Given the description of an element on the screen output the (x, y) to click on. 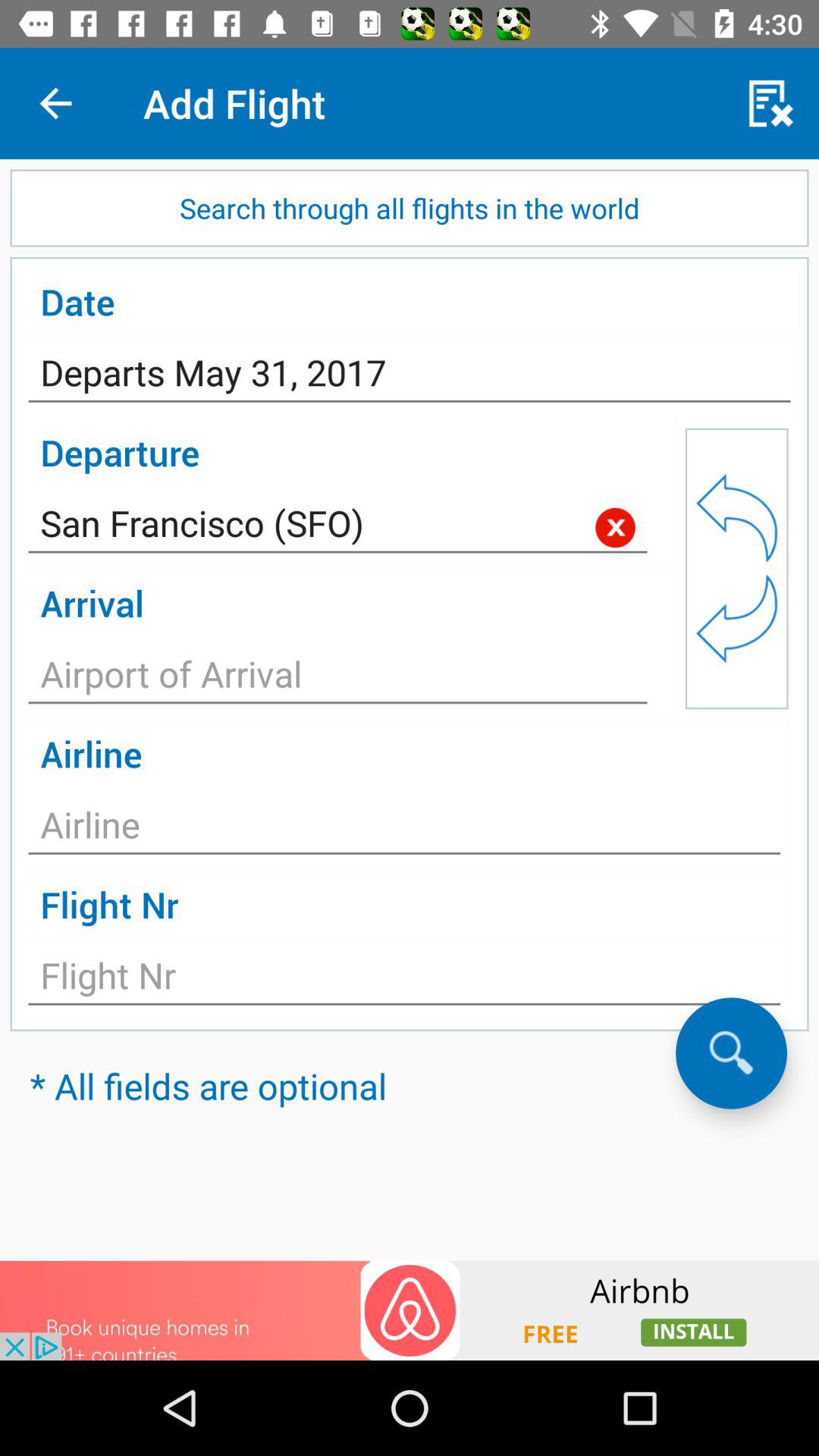
enter airport of arrival (337, 678)
